Given the description of an element on the screen output the (x, y) to click on. 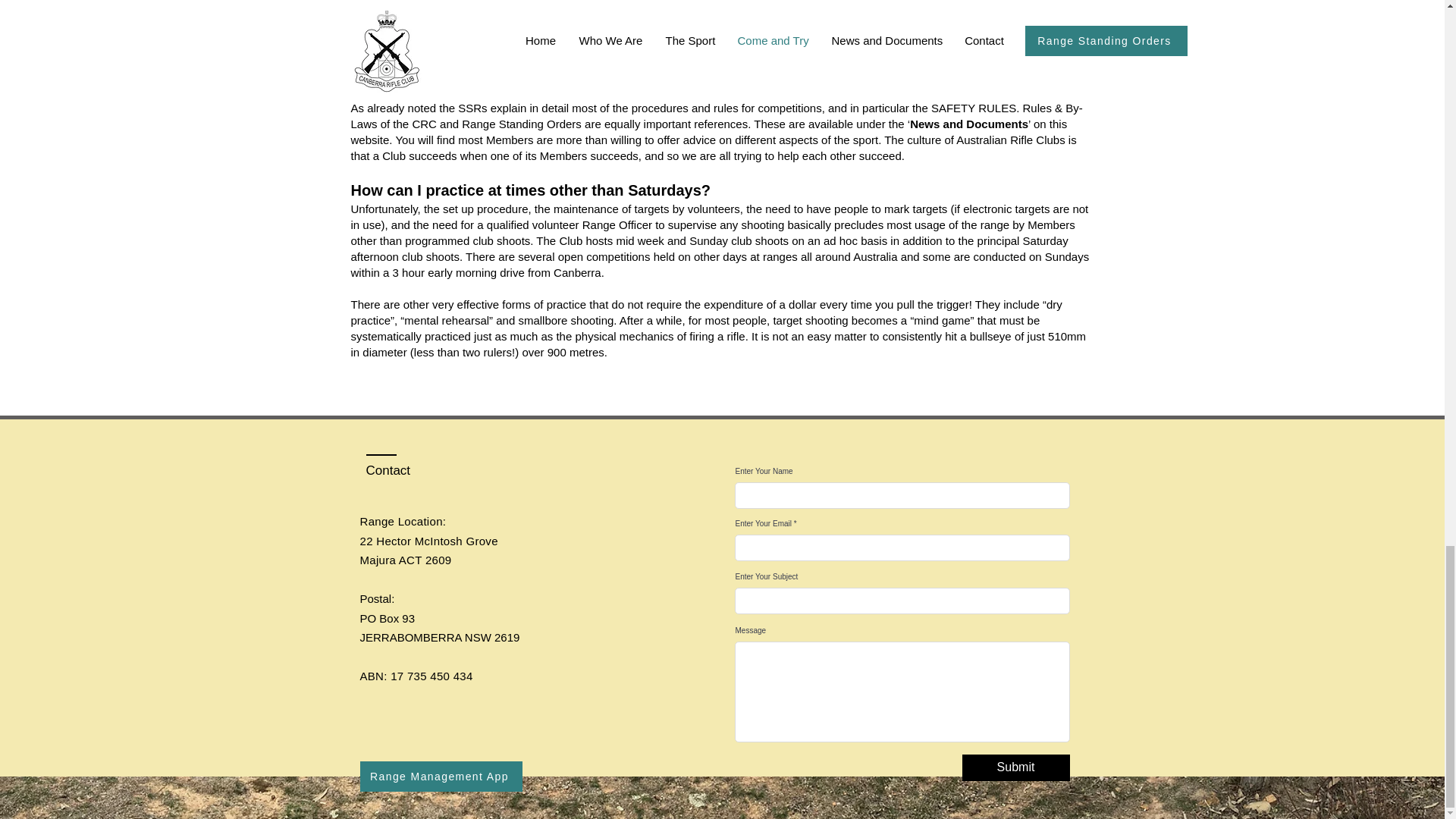
Range Standing Orders (520, 123)
Submit (1014, 767)
Range Management App (440, 776)
